Given the description of an element on the screen output the (x, y) to click on. 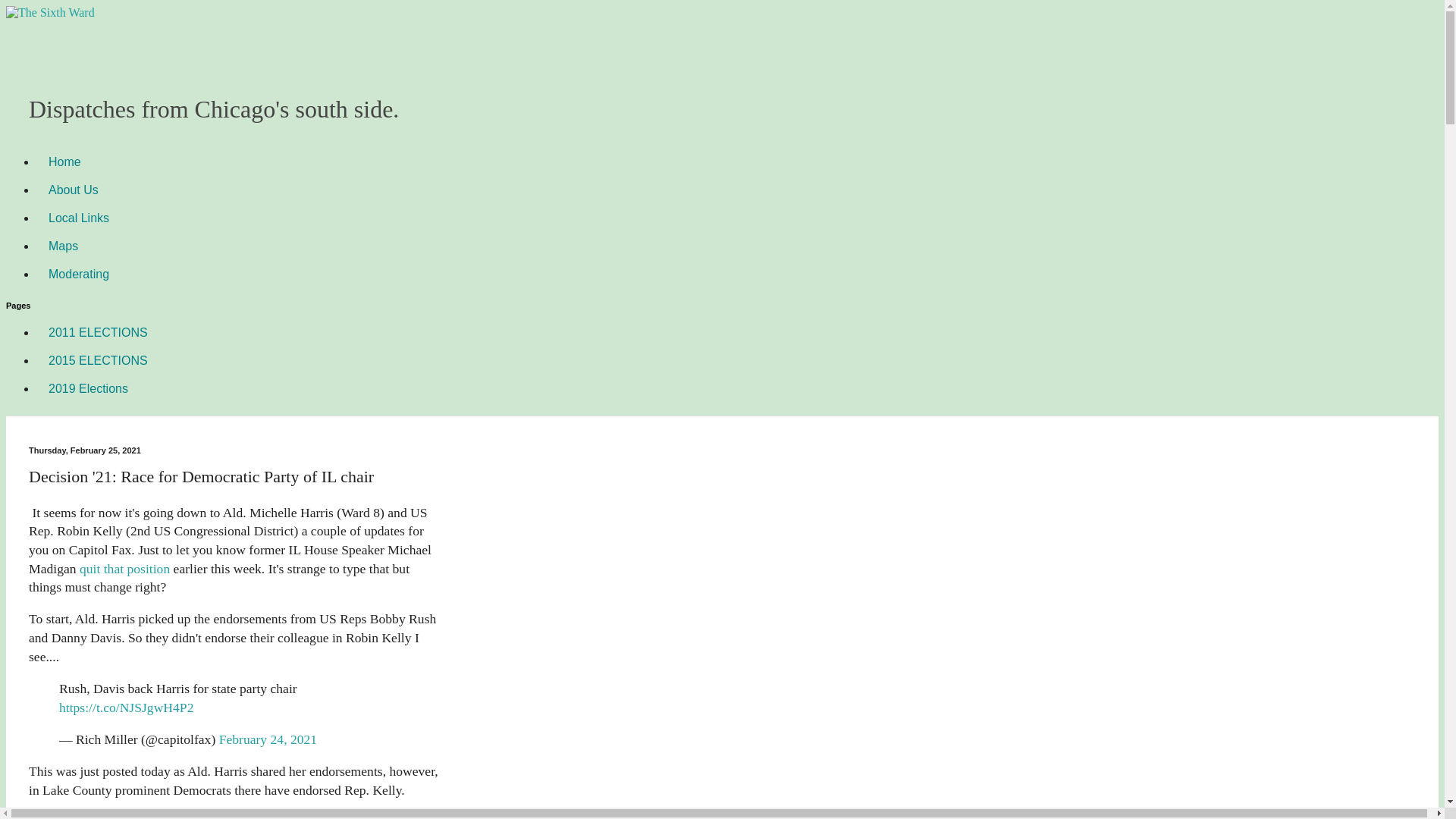
2015 ELECTIONS (98, 360)
quit that position (125, 568)
February 24, 2021 (268, 739)
Maps (63, 246)
2011 ELECTIONS (98, 332)
Local Links (78, 217)
Moderating (78, 275)
2019 Elections (87, 388)
Home (64, 162)
About Us (73, 189)
